Given the description of an element on the screen output the (x, y) to click on. 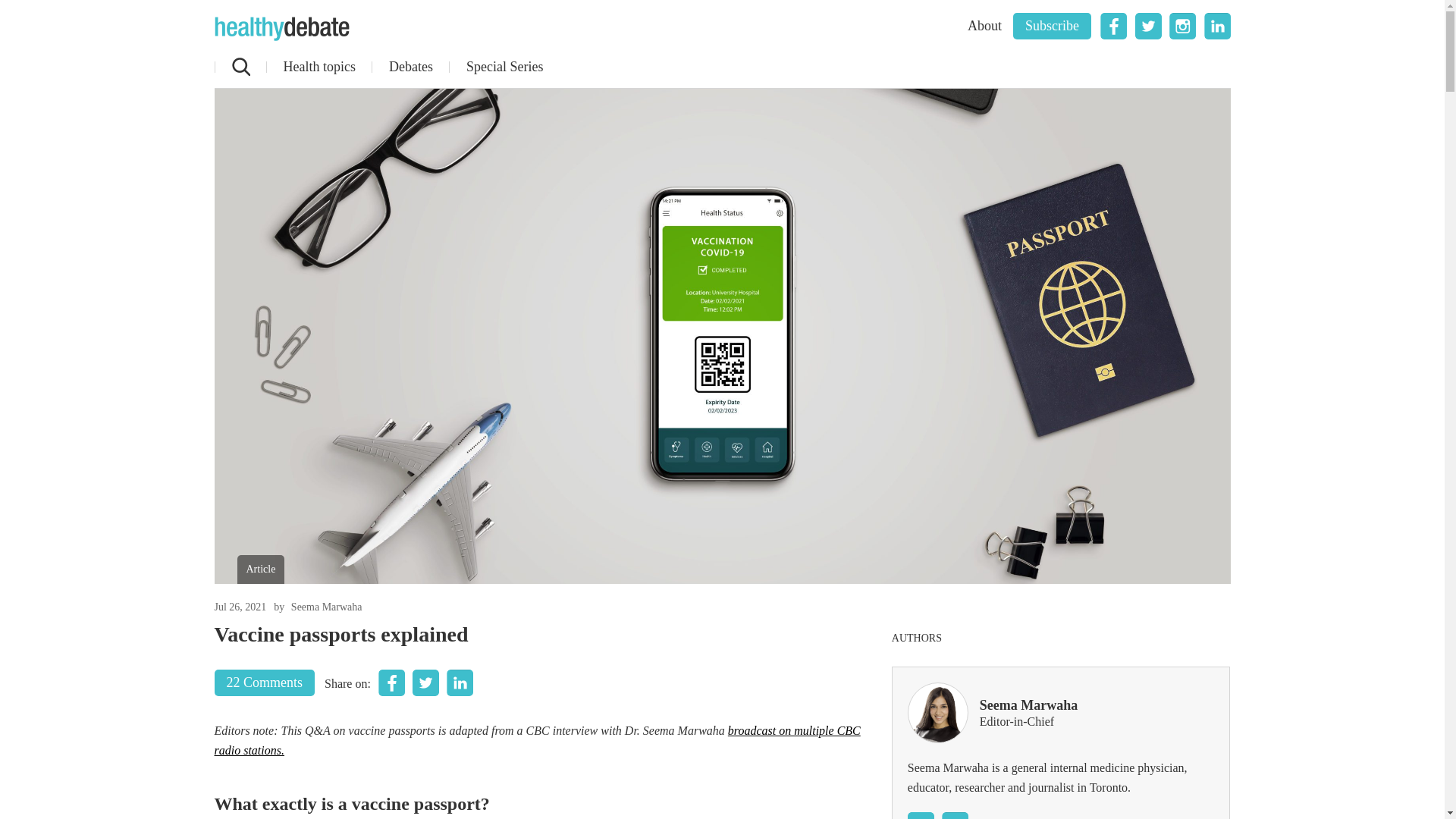
Seema Marwaha (326, 606)
Health topics (318, 67)
About (984, 25)
Special Series (504, 67)
Debates (410, 67)
Subscribe (1051, 26)
22 Comments (264, 682)
Healthy Debate (281, 28)
Healthy Debate (281, 28)
